Given the description of an element on the screen output the (x, y) to click on. 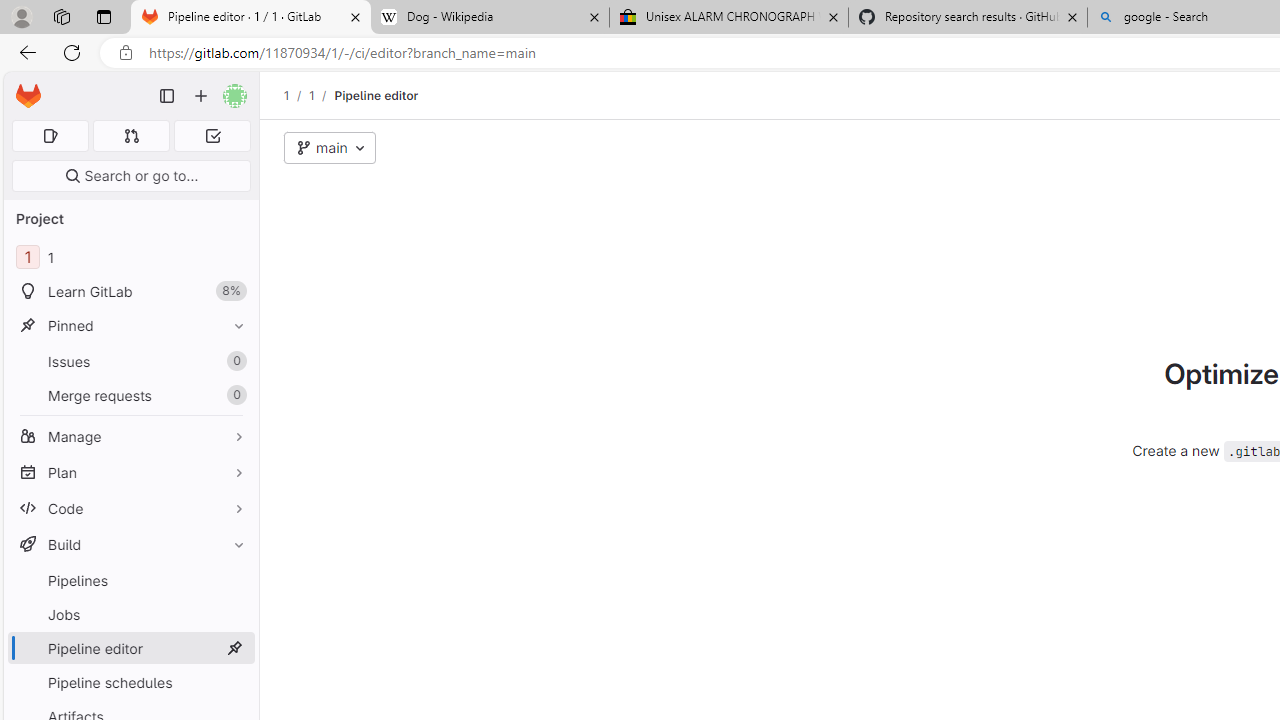
To-Do list 0 (212, 136)
Pin Pipelines (234, 580)
Issues0 (130, 361)
Jobs (130, 614)
Create new... (201, 96)
Unpin Issues (234, 361)
Pipeline schedules (130, 682)
main (330, 147)
Issues 0 (130, 361)
Pipeline editor (376, 95)
Dog - Wikipedia (490, 17)
Pin Jobs (234, 614)
Pipeline editor (376, 95)
